Given the description of an element on the screen output the (x, y) to click on. 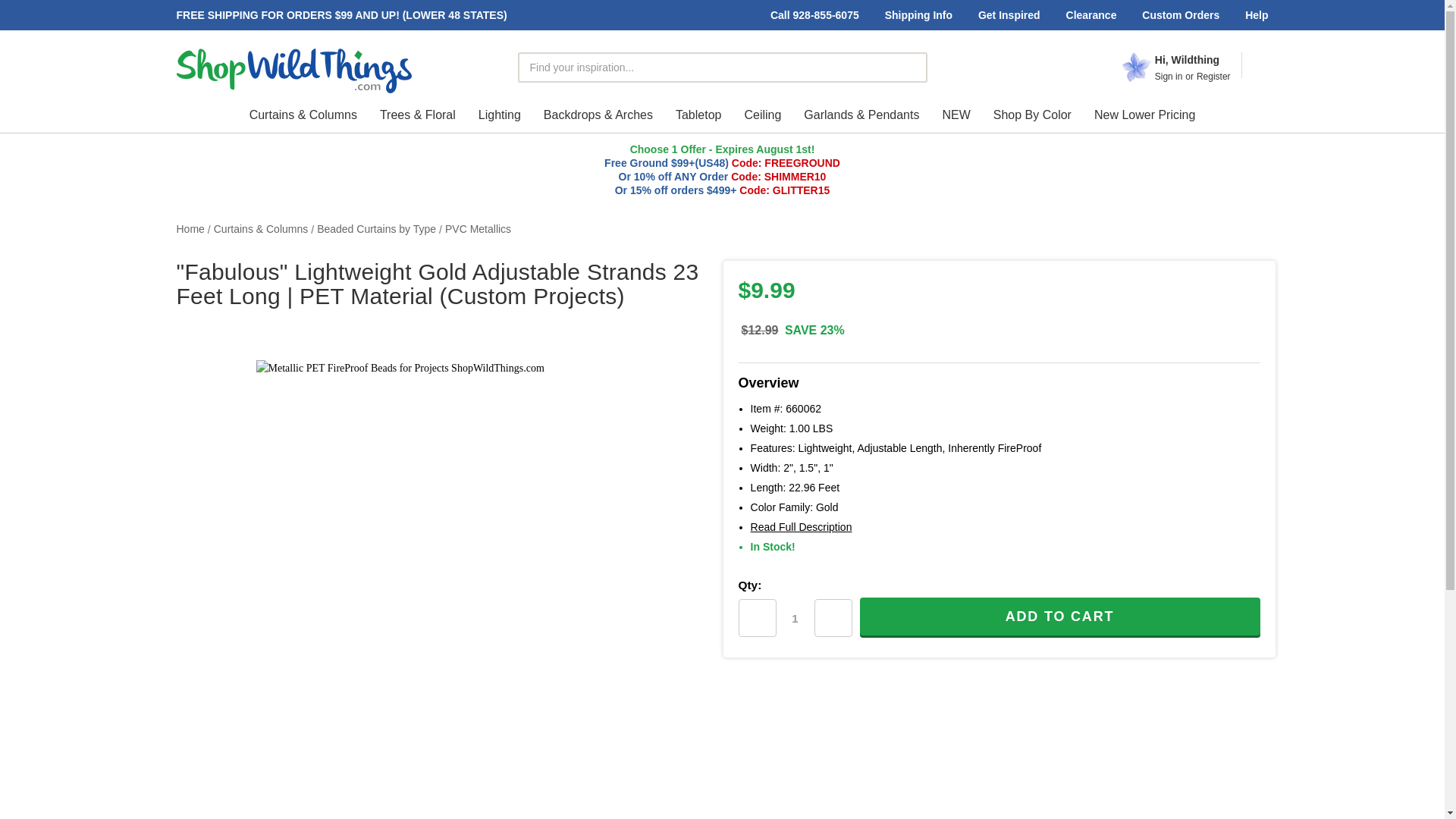
Get Inspired (1008, 15)
View Wishlists (1252, 52)
Call 928-855-6075 (814, 15)
1 (794, 617)
Help (1256, 15)
Custom Orders (1180, 15)
Shipping Info (918, 15)
Sign in (1168, 76)
Shop Wild Things (294, 70)
Register (1213, 76)
Clearance (1091, 15)
Add to Cart (1060, 616)
